Given the description of an element on the screen output the (x, y) to click on. 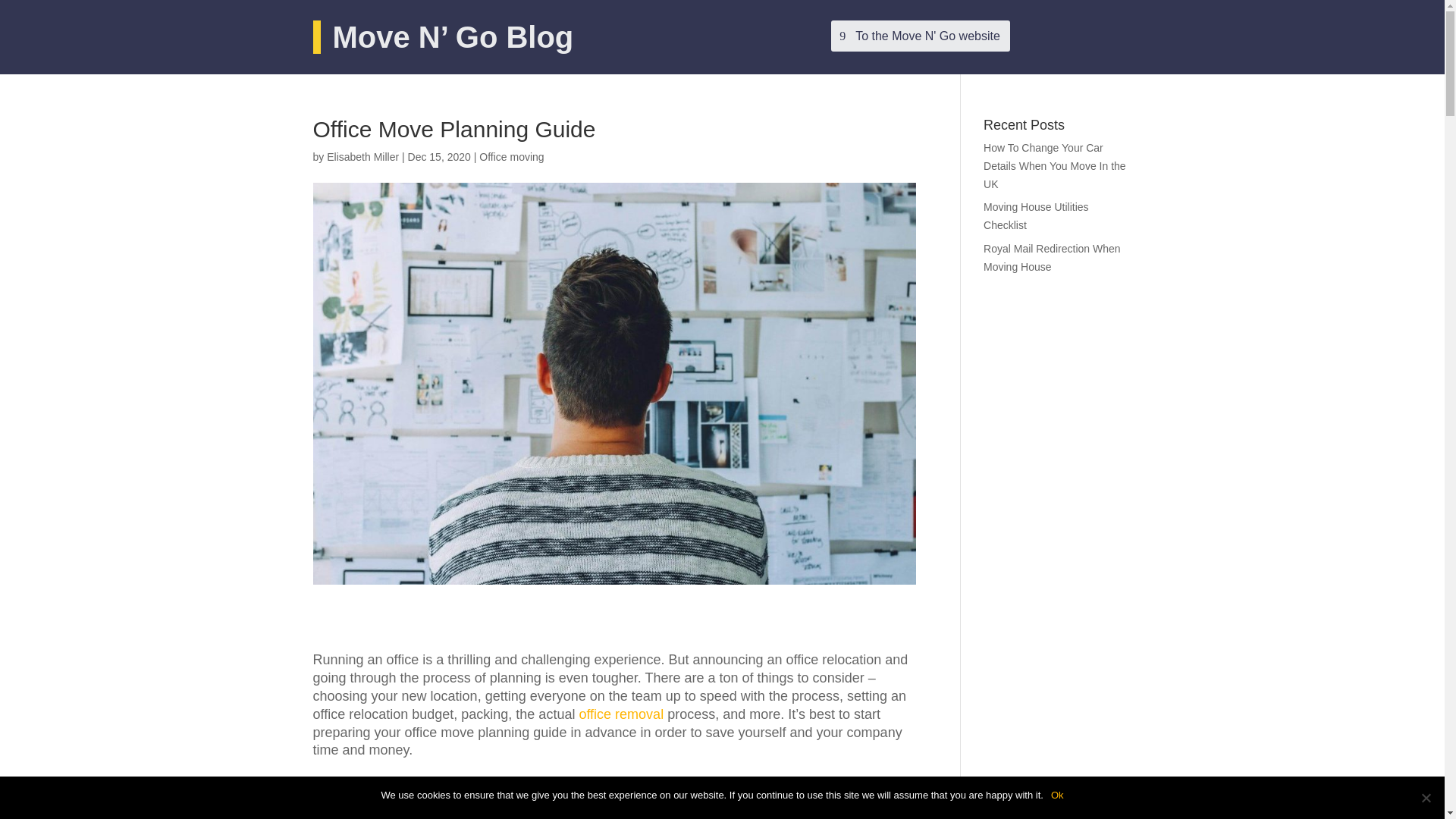
Office moving (511, 156)
Moving House Utilities Checklist (1036, 215)
No (1425, 797)
office removal (620, 713)
Royal Mail Redirection When Moving House (1052, 257)
Posts by Elisabeth Miller (362, 156)
Elisabeth Miller (362, 156)
To the Move N' Go website (920, 35)
How To Change Your Car Details When You Move In the UK (1054, 165)
